Given the description of an element on the screen output the (x, y) to click on. 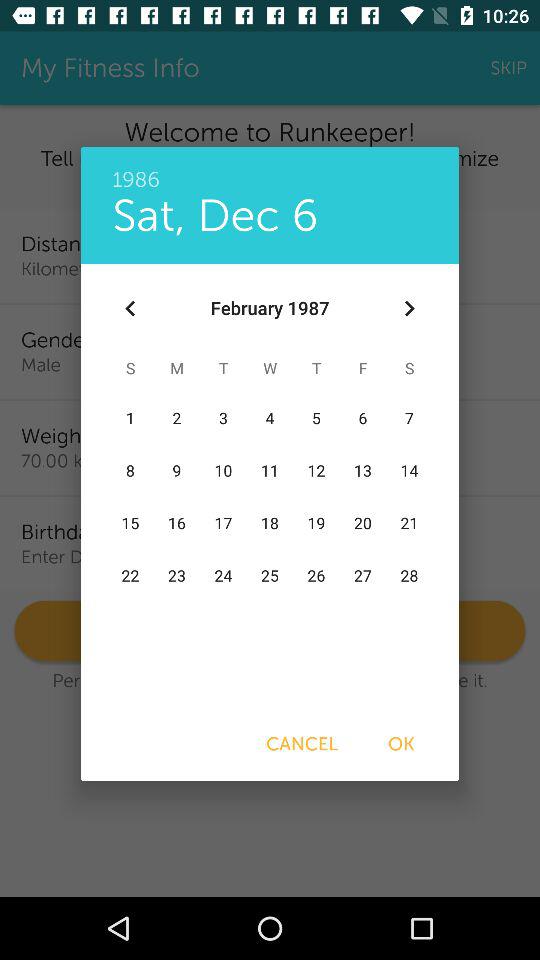
scroll to 1986 (269, 169)
